Given the description of an element on the screen output the (x, y) to click on. 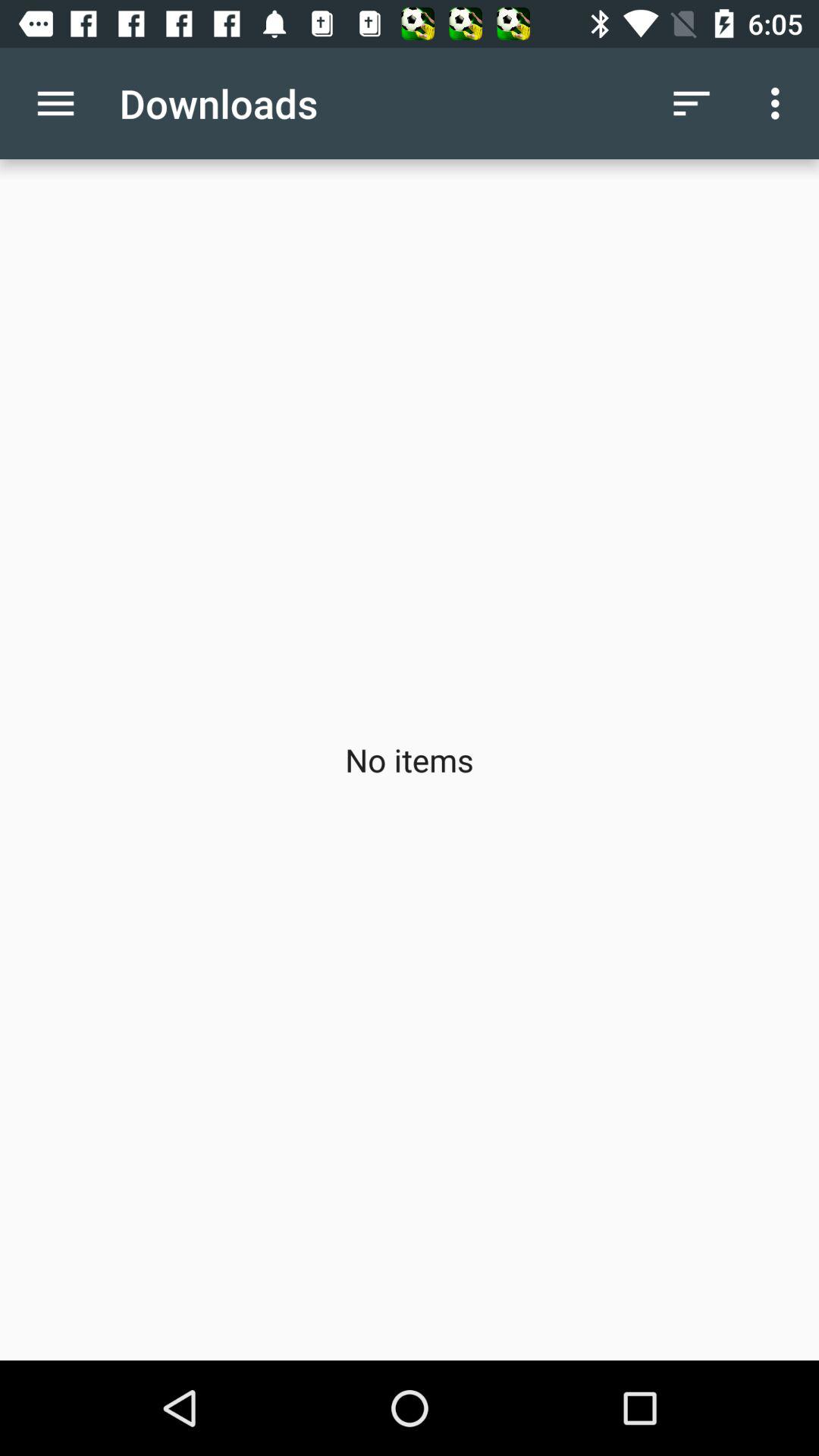
select app to the right of downloads app (691, 103)
